Given the description of an element on the screen output the (x, y) to click on. 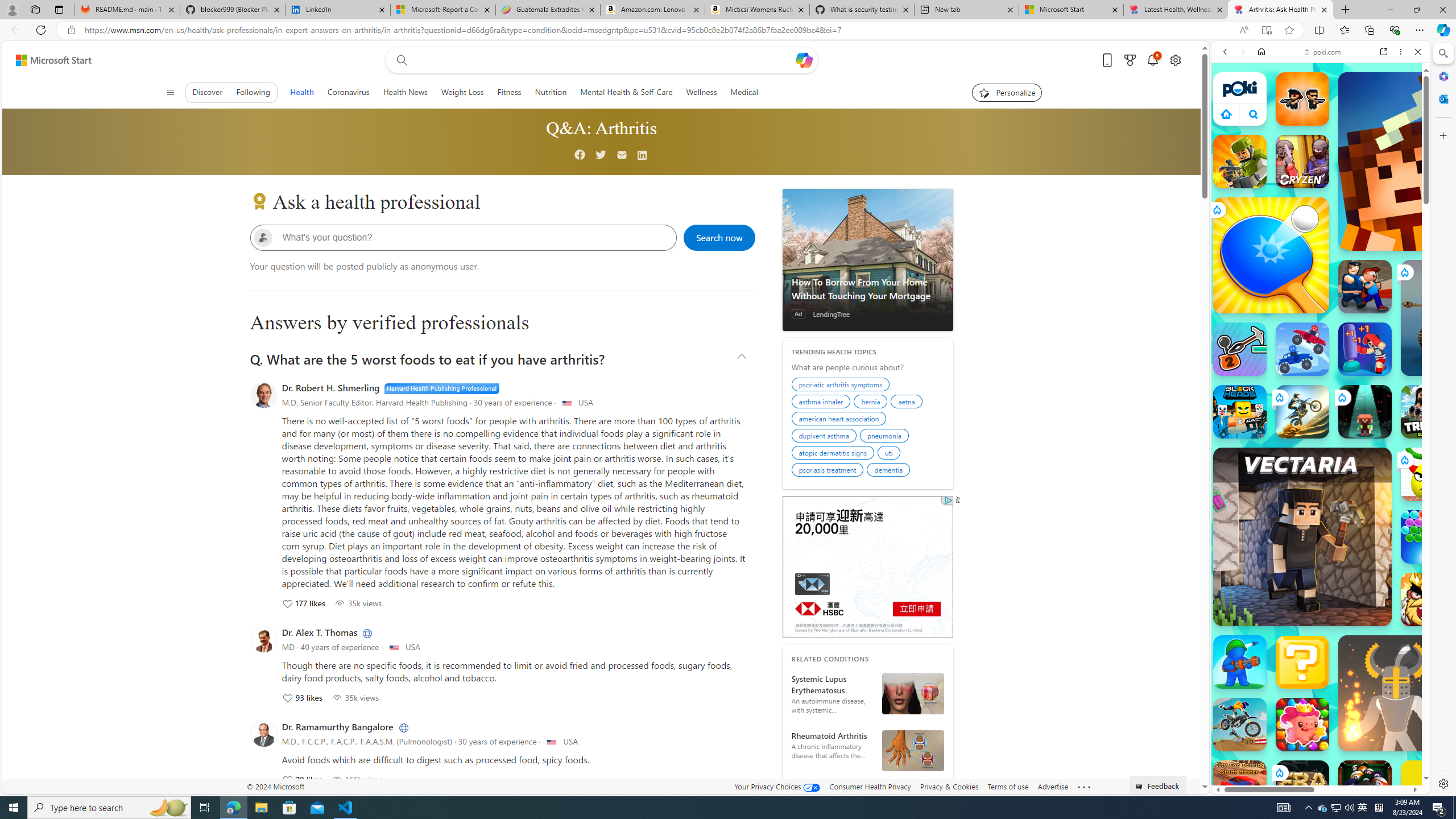
Advertisement (867, 567)
